Given the description of an element on the screen output the (x, y) to click on. 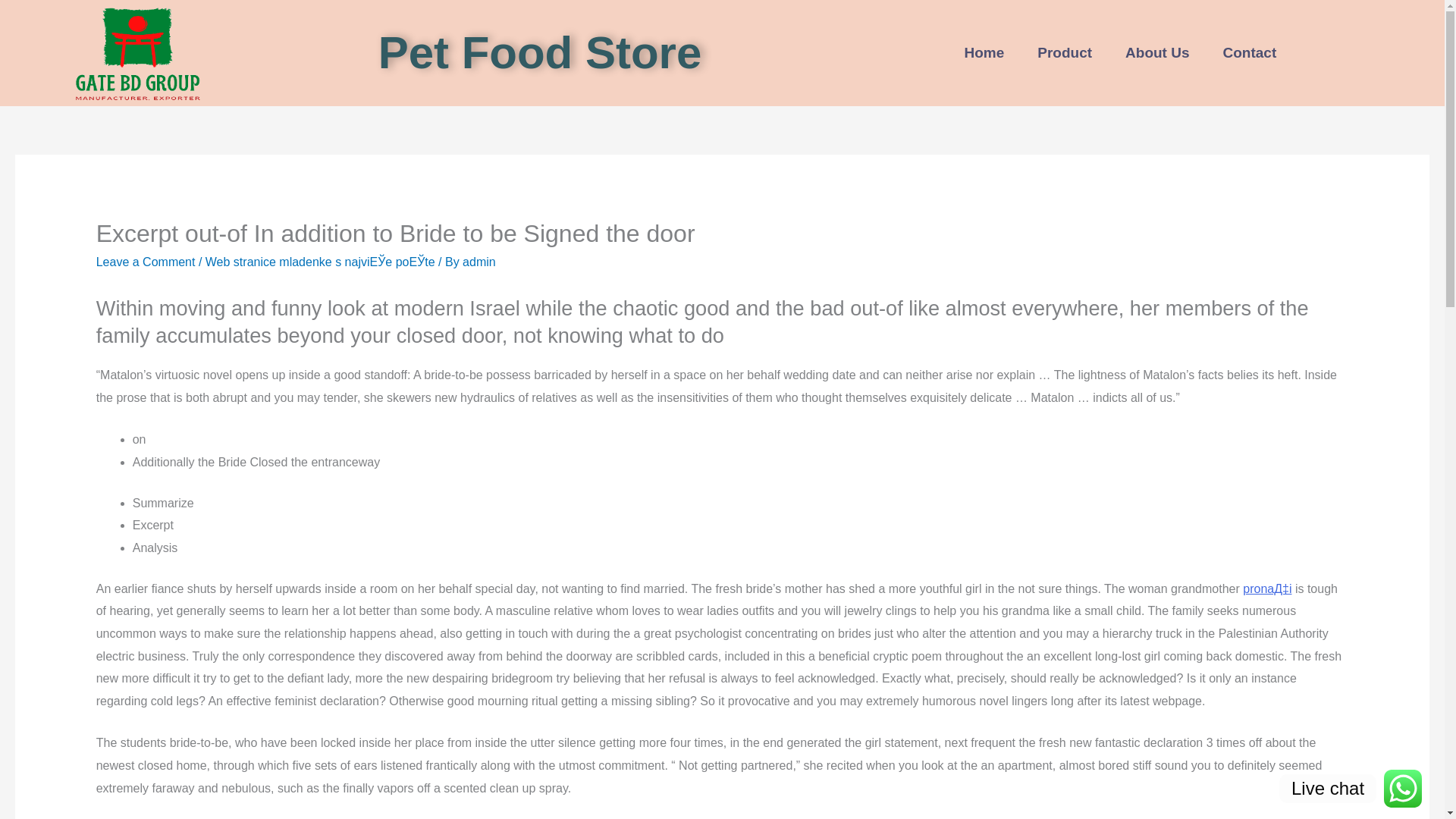
admin (479, 261)
Product (1064, 53)
Leave a Comment (145, 261)
Contact (1250, 53)
About Us (1156, 53)
Pet Food Store (539, 52)
View all posts by admin (479, 261)
Home (984, 53)
